Given the description of an element on the screen output the (x, y) to click on. 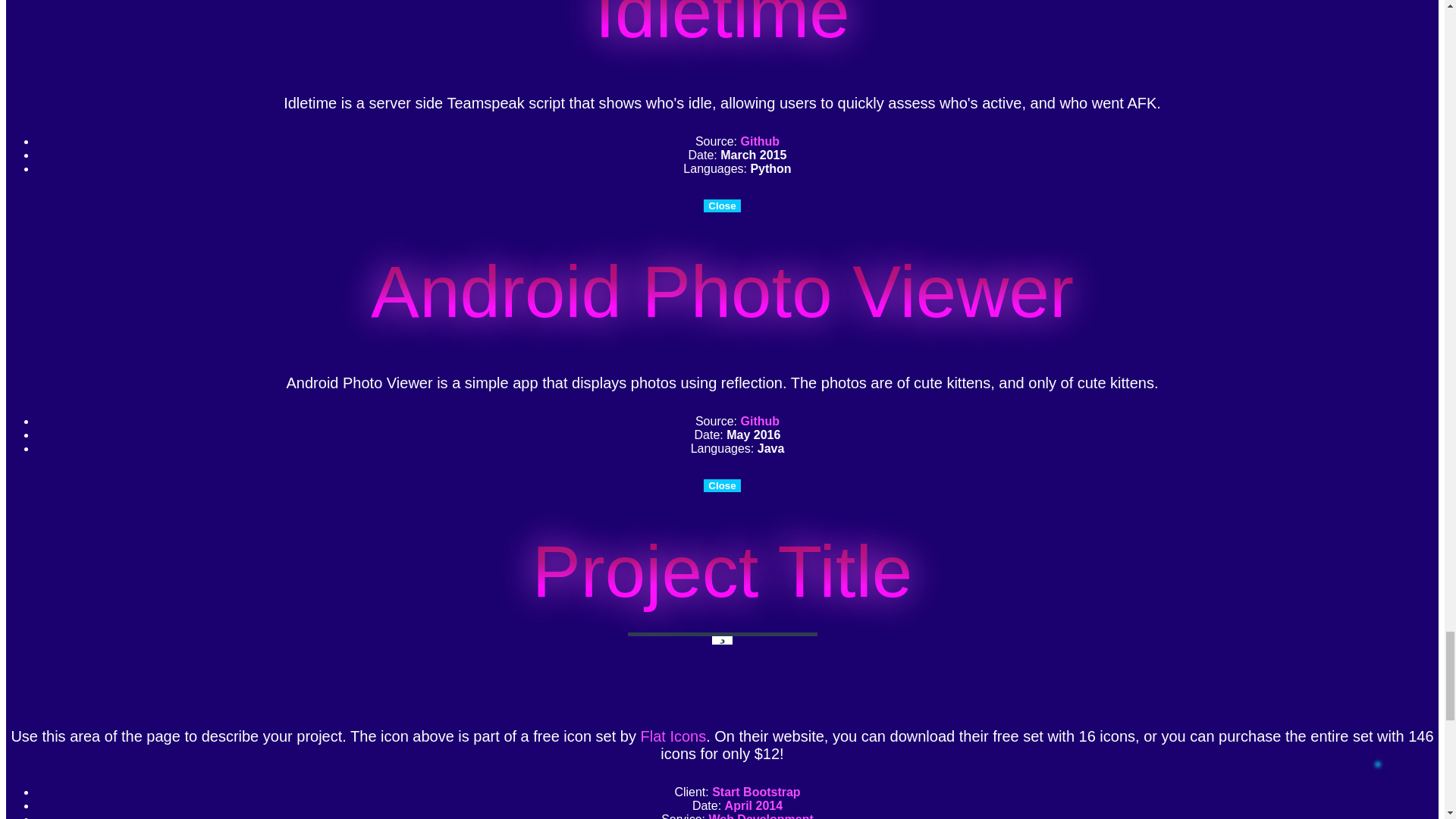
Close (721, 205)
Web Development (759, 816)
Github (760, 420)
Github (760, 141)
Flat Icons (673, 736)
April 2014 (754, 805)
Start Bootstrap (755, 791)
Close (721, 485)
